Given the description of an element on the screen output the (x, y) to click on. 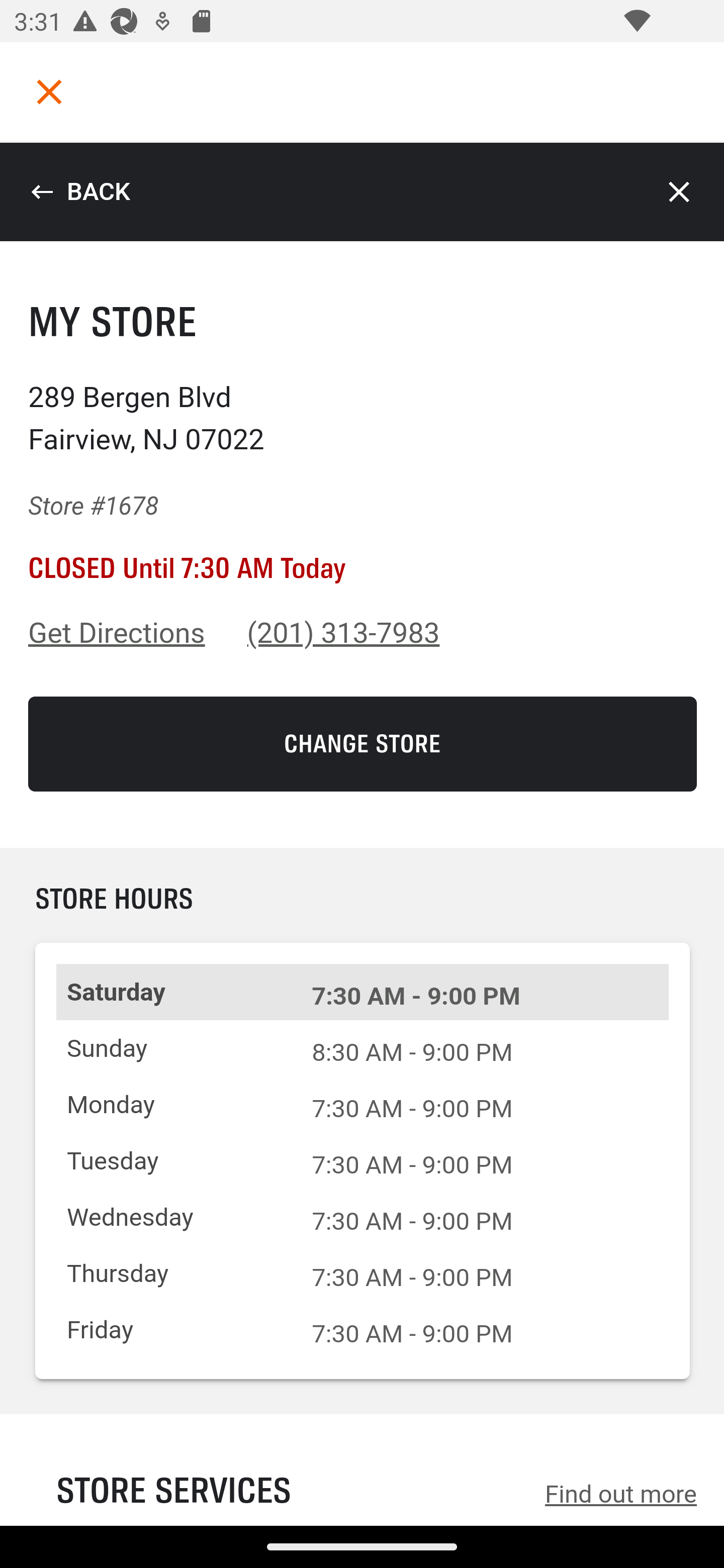
 (49, 91)
BACK (79, 192)
Close (679, 192)
Batteries Batteries Batteries (362, 450)
Engine Oil Engine Oil Engine Oil (362, 521)
Brake Pads Brake Pads Brake Pads (362, 594)
(201) 313-7983 (343, 633)
CHANGE STORE (363, 743)
Close icon Get the AutoZone App OPEN (362, 1456)
